Given the description of an element on the screen output the (x, y) to click on. 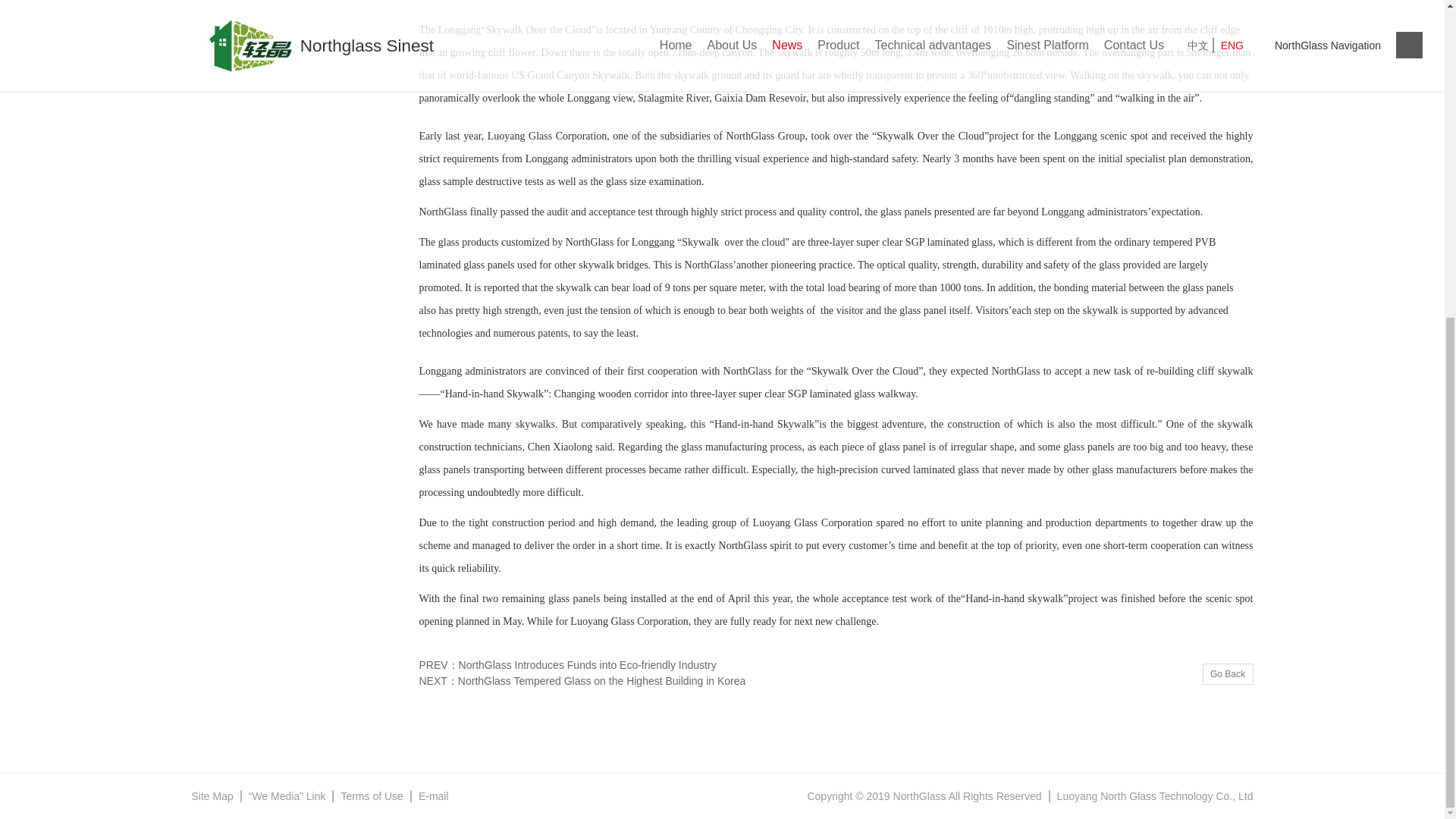
Go Back (1227, 673)
Site Map (215, 796)
Luoyang North Glass Technology Co., Ltd (1151, 796)
Terms of Use (371, 796)
E-mail (430, 796)
